Given the description of an element on the screen output the (x, y) to click on. 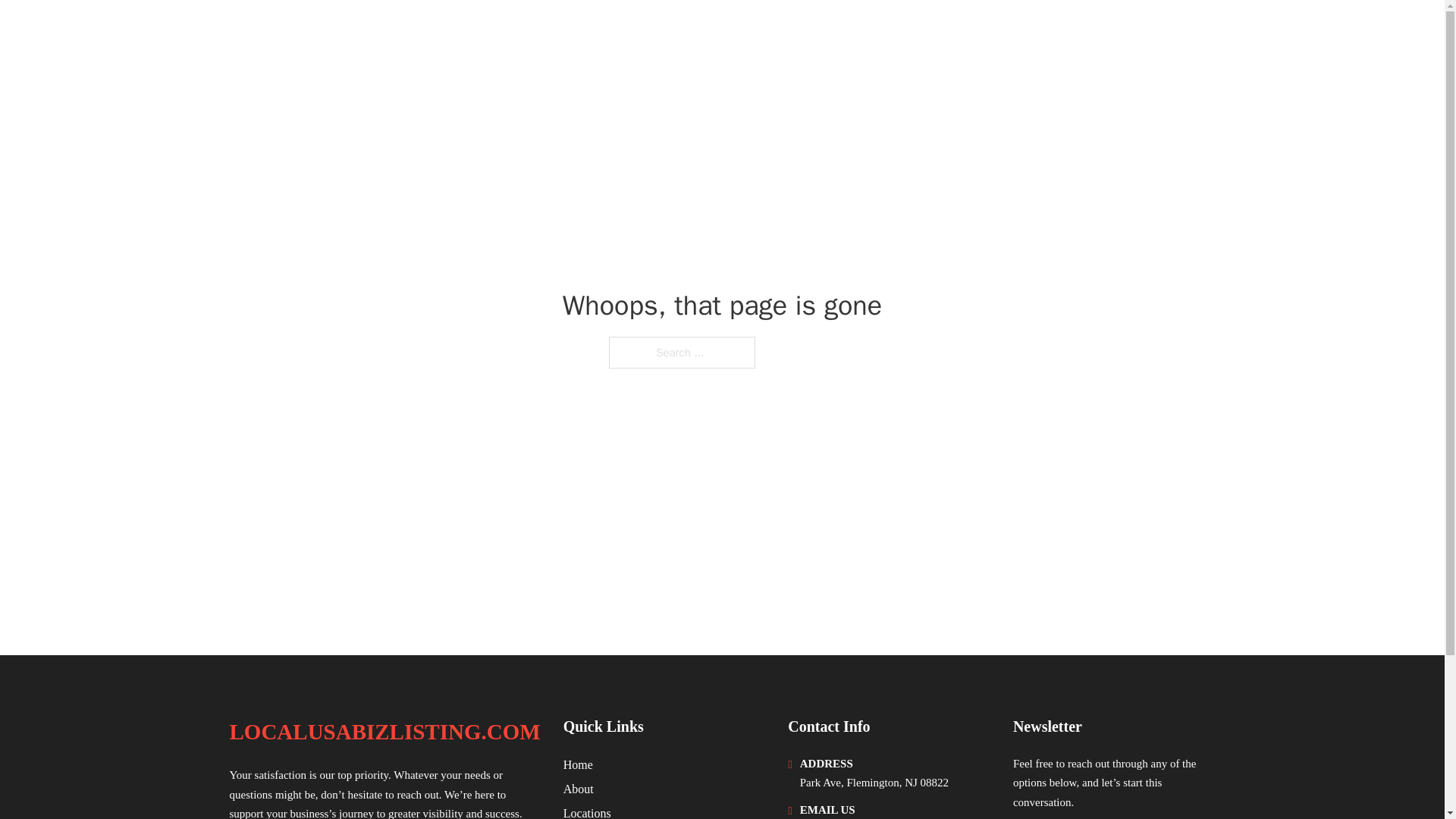
LOCATIONS (1098, 31)
LOCALUSABIZLISTING.COM (384, 732)
Home (577, 764)
About (578, 788)
Locations (587, 811)
LOCALUSABIZLISTING.COM (400, 31)
HOME (1025, 31)
